Given the description of an element on the screen output the (x, y) to click on. 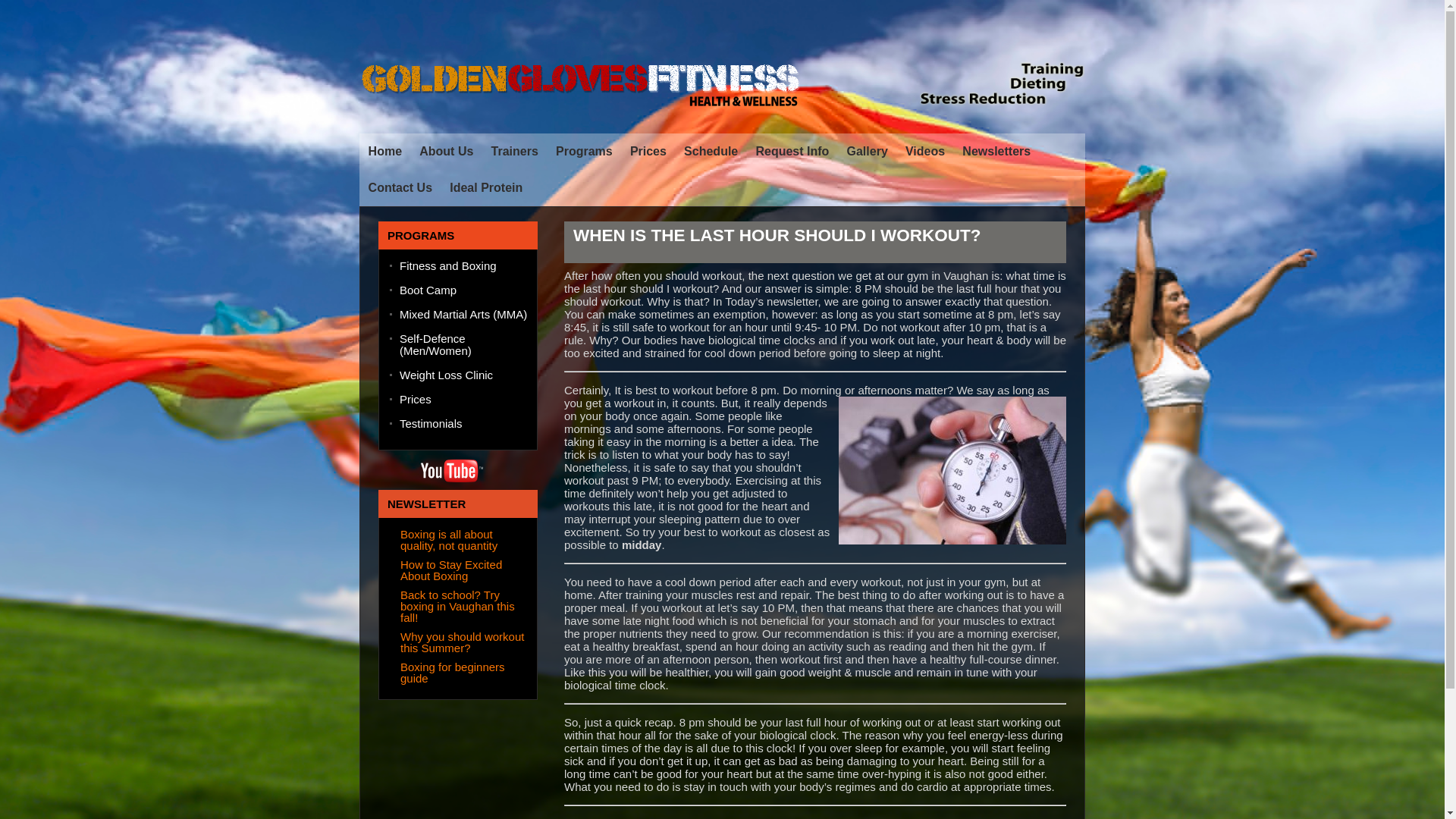
Boxing is all about quality, not quantity (448, 539)
Trainers (515, 151)
Weight Loss Clinic (463, 381)
Schedule (711, 151)
Fitness and Boxing (463, 272)
Prices (648, 151)
Testimonials (463, 429)
Ideal Protein (485, 187)
Programs (584, 151)
Boot Camp (463, 296)
